Given the description of an element on the screen output the (x, y) to click on. 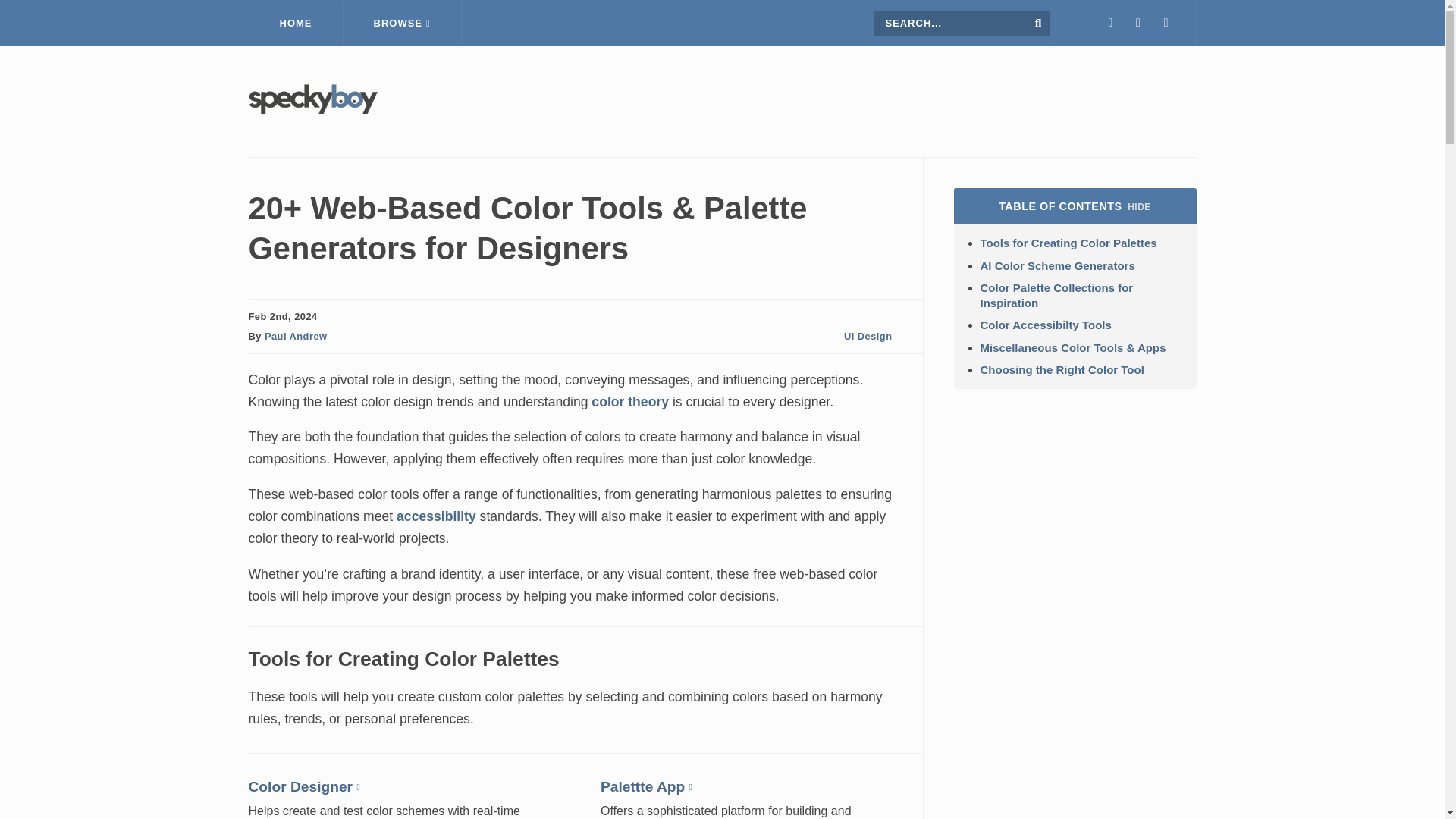
OUR FACEBOOK PAGE (1138, 23)
HOME (295, 22)
Speckyboy Design Magazine (312, 109)
OUR TWITTER PAGE (1110, 23)
Posts by Paul Andrew (295, 336)
Search (1038, 22)
RSS FEED (1166, 23)
BROWSE (401, 22)
